Given the description of an element on the screen output the (x, y) to click on. 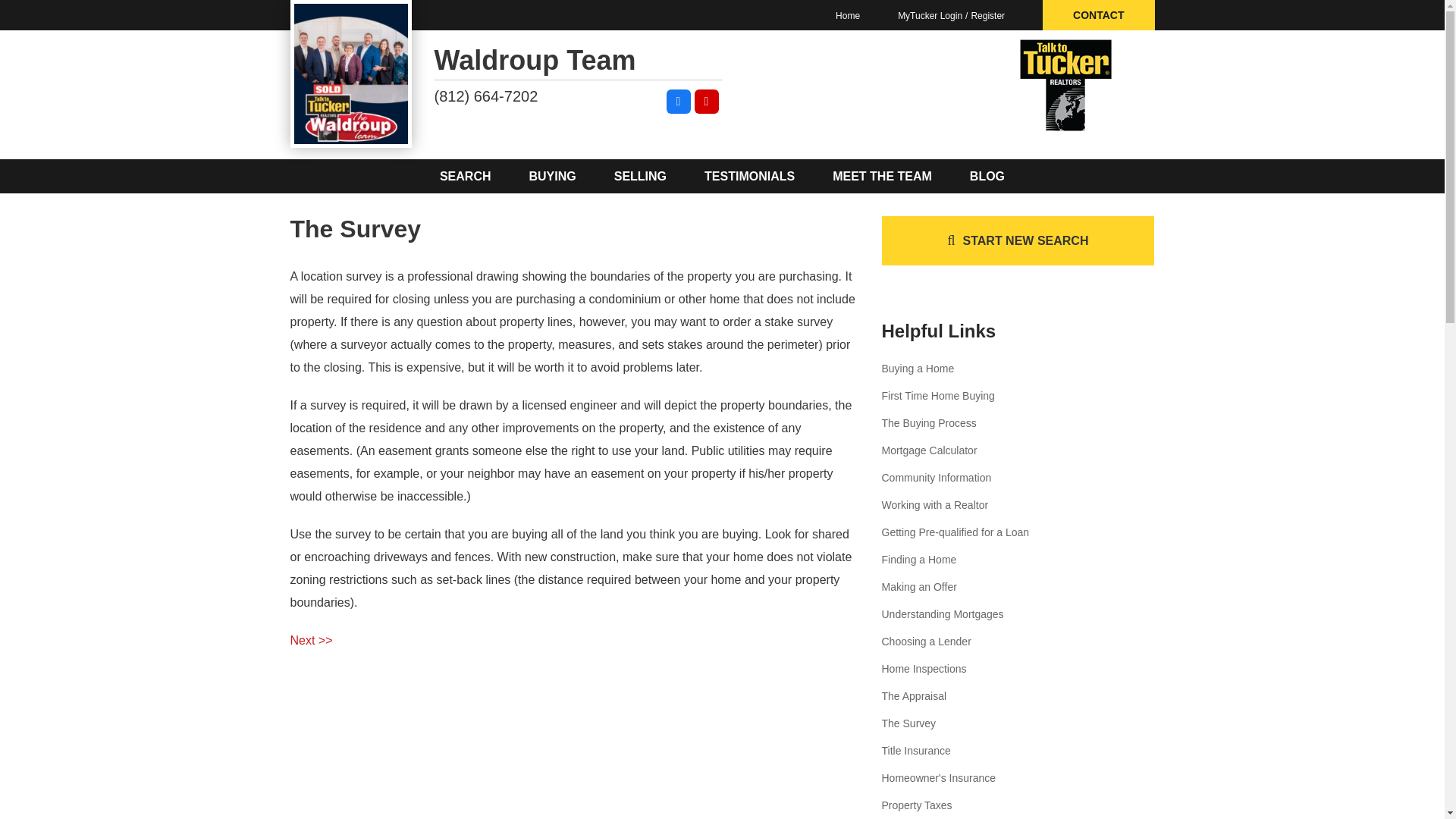
Mortgage Calculator (928, 450)
YouTube (706, 101)
Home (847, 15)
First Time Home Buying (937, 395)
Making an Offer (918, 586)
SEARCH (465, 175)
The Buying Process (927, 422)
Register (983, 15)
F.C. Tucker Emge and F.C. Tucker Collier Realtors (1064, 84)
Getting Pre-qualified for a Loan (954, 532)
MEET THE TEAM (881, 175)
Working with a Realtor (934, 504)
Choosing a Lender (925, 641)
Facebook (677, 101)
Community Information (935, 477)
